Given the description of an element on the screen output the (x, y) to click on. 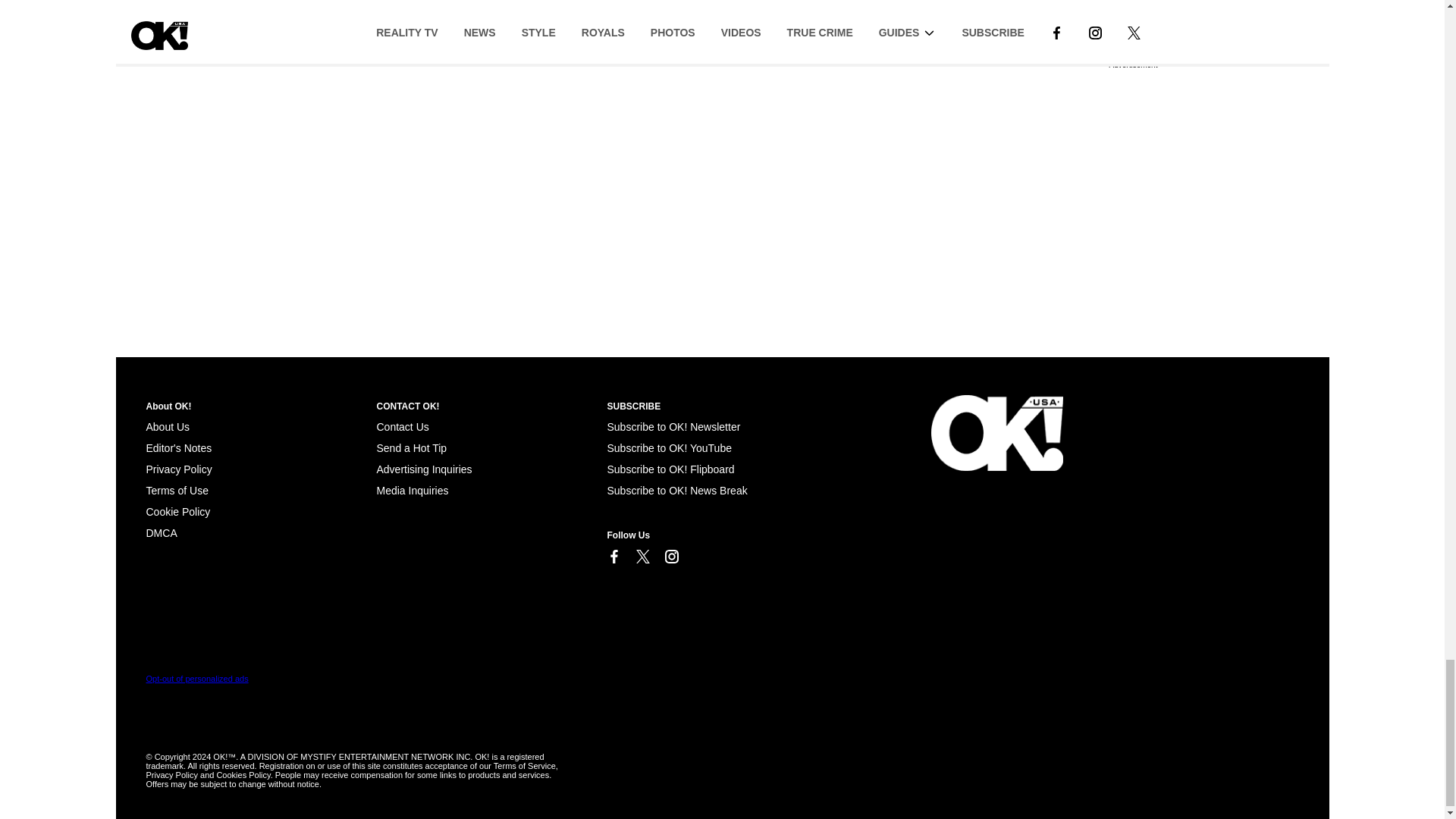
Editor's Notes (178, 448)
Contact Us (401, 426)
Send a Hot Tip (410, 448)
Link to Facebook (613, 556)
Terms of Use (176, 490)
Cookie Policy (160, 532)
Link to X (641, 556)
Privacy Policy (178, 469)
About Us (167, 426)
Link to Instagram (670, 556)
